Given the description of an element on the screen output the (x, y) to click on. 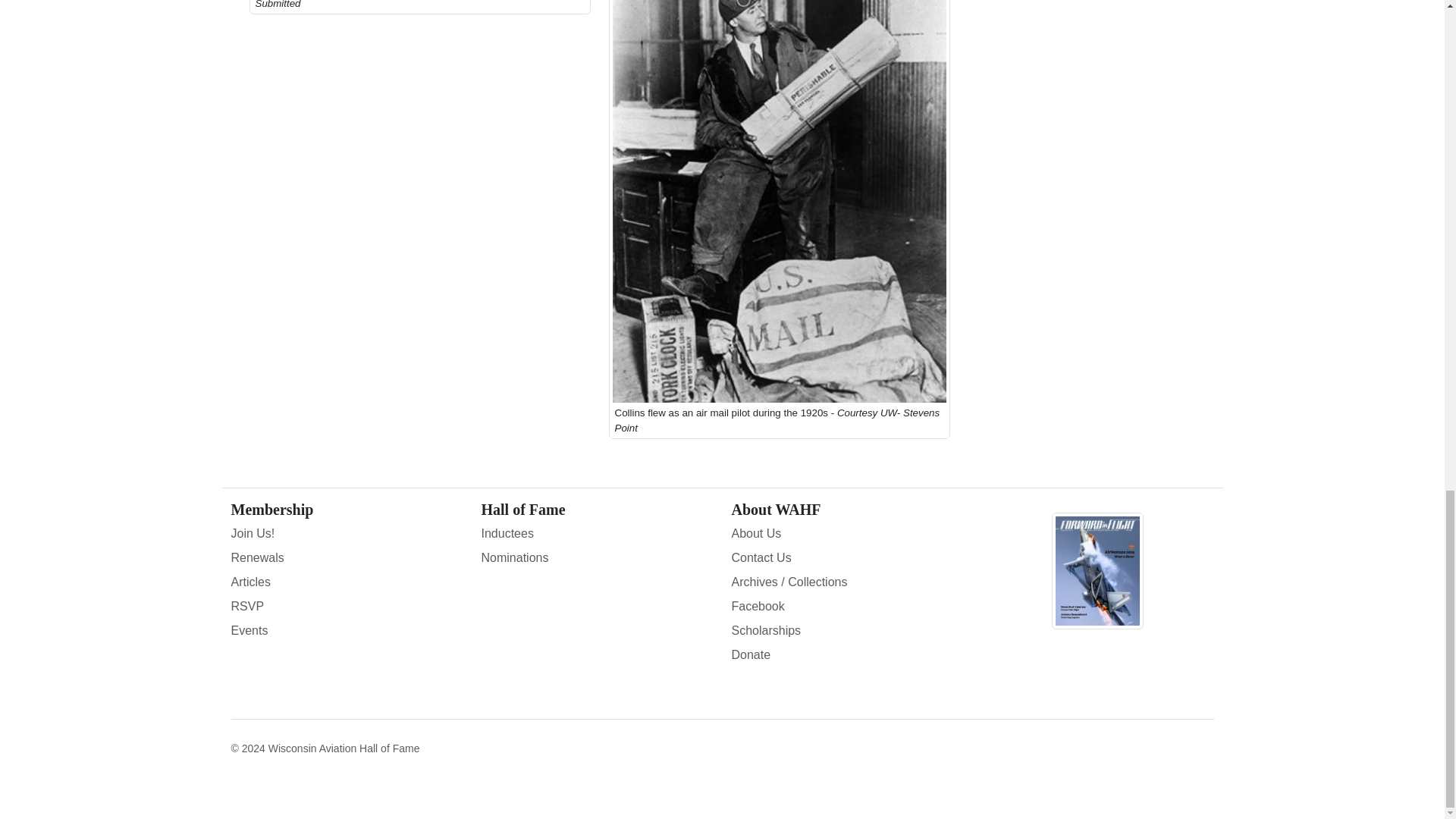
Donate (846, 655)
Events (346, 630)
Contact Us (846, 557)
Renewals (346, 557)
Scholarships (846, 630)
Nominations (596, 557)
Facebook (846, 606)
Articles (346, 582)
About Us (846, 533)
Inductees (596, 533)
